Given the description of an element on the screen output the (x, y) to click on. 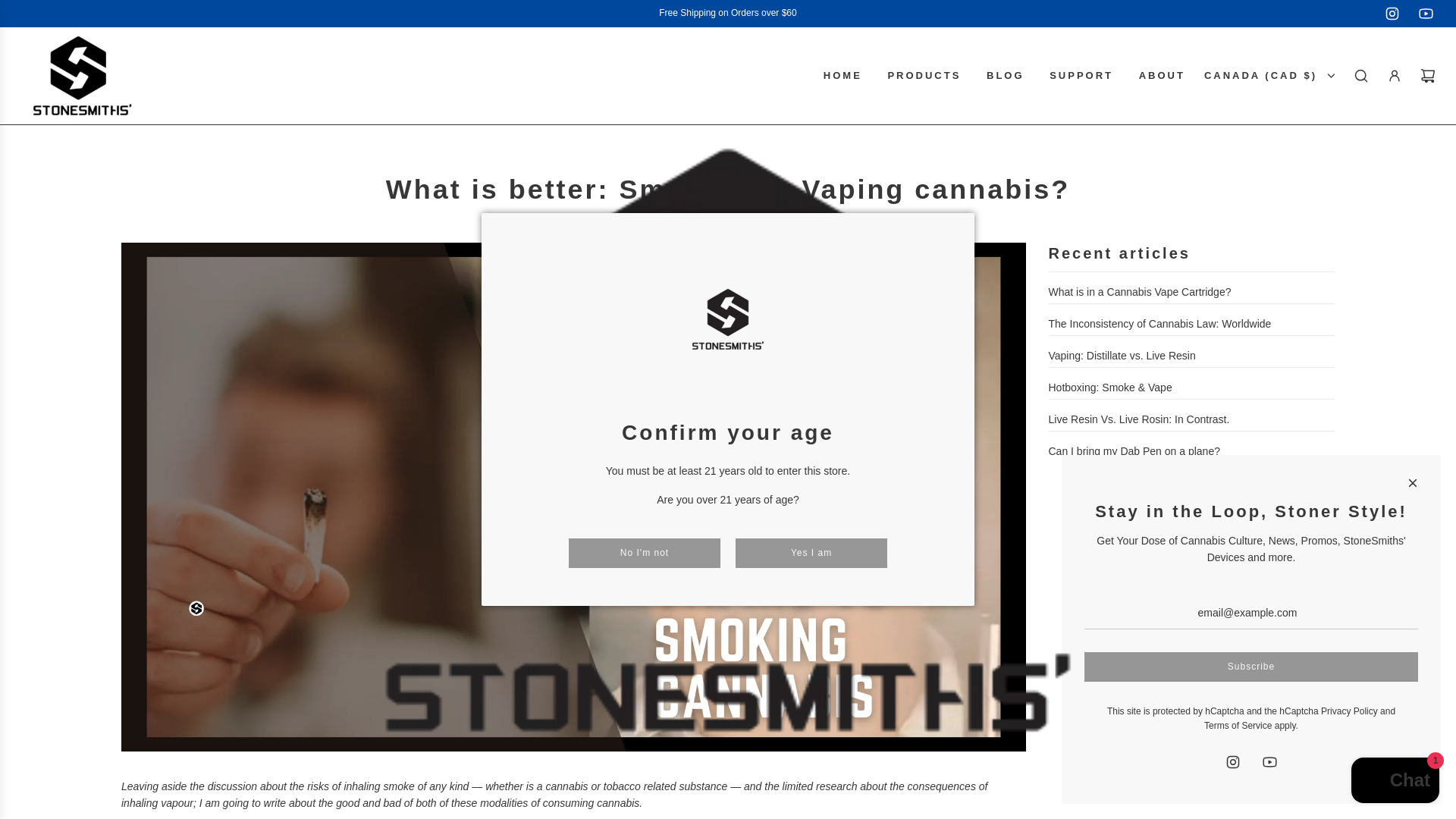
BLOG (1005, 75)
PRODUCTS (924, 75)
Shopify online store chat (1395, 781)
ABOUT (1161, 75)
SUPPORT (1081, 75)
HOME (842, 75)
